Given the description of an element on the screen output the (x, y) to click on. 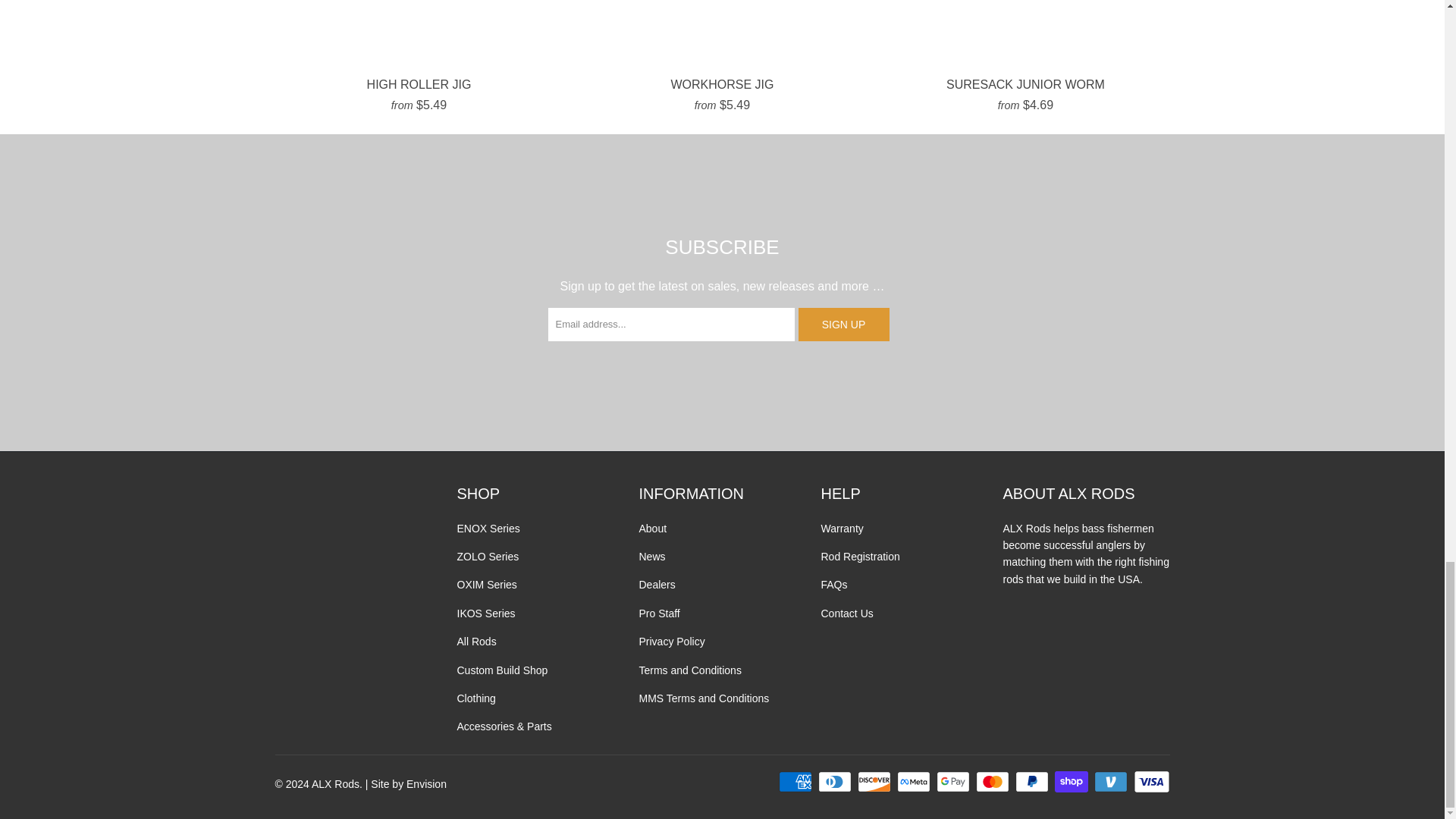
Mastercard (993, 781)
Google Pay (954, 781)
PayPal (1032, 781)
American Express (796, 781)
Discover (875, 781)
Visa (1150, 781)
Shop Pay (1072, 781)
Diners Club (836, 781)
Meta Pay (914, 781)
Venmo (1112, 781)
Sign Up (842, 324)
